Given the description of an element on the screen output the (x, y) to click on. 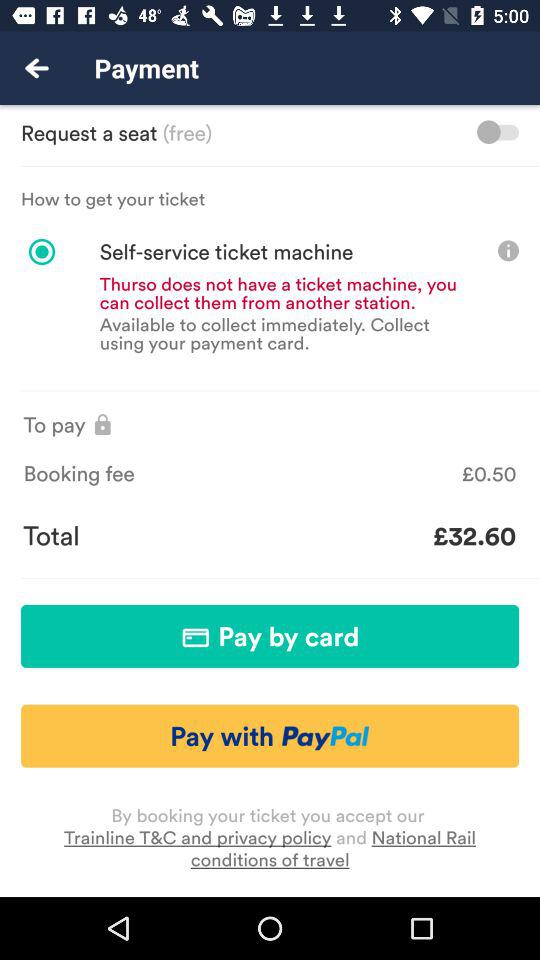
tap icon to the right of the (free) item (497, 132)
